Given the description of an element on the screen output the (x, y) to click on. 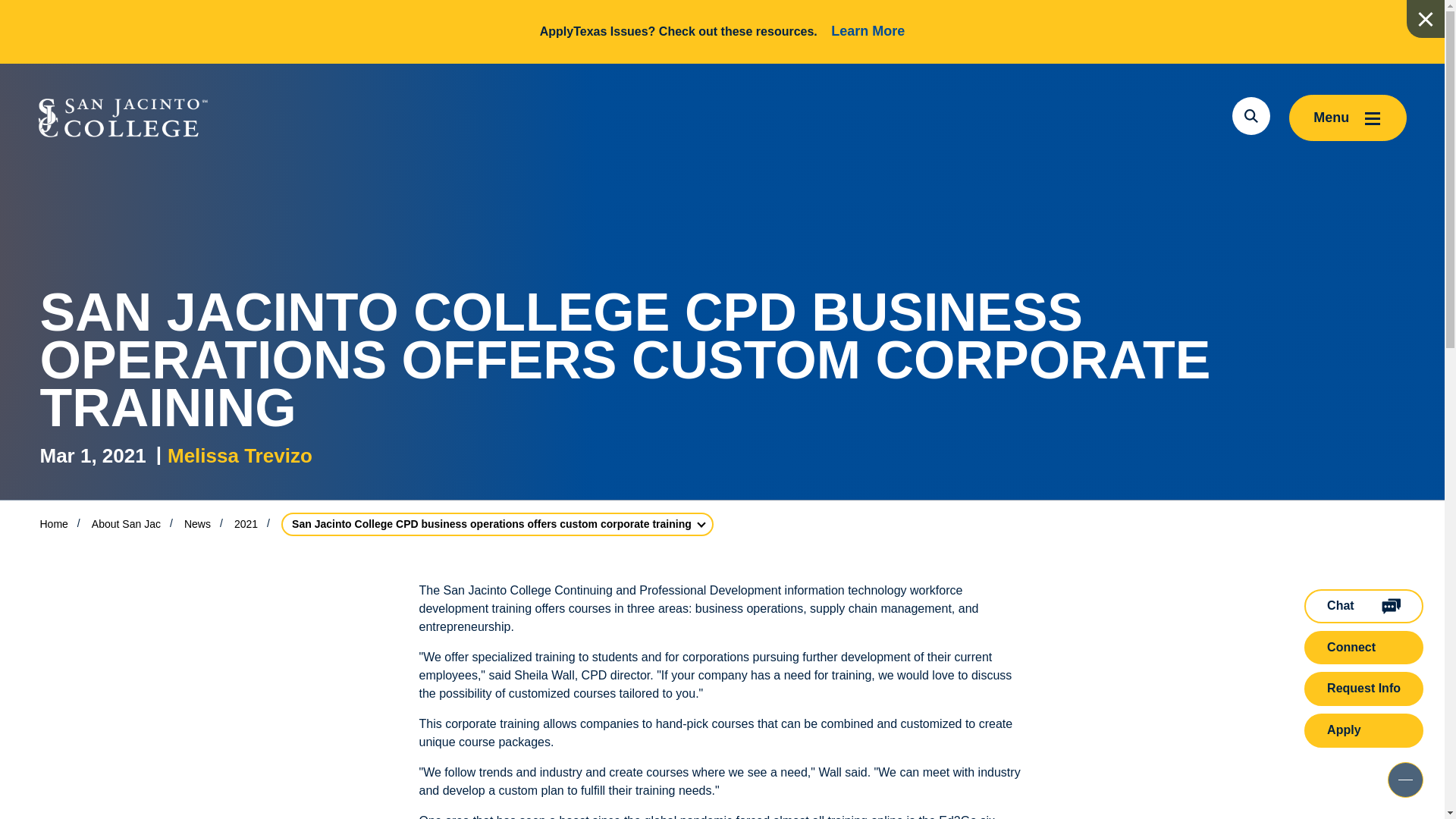
Menu (1347, 117)
main page (122, 117)
Submit (1217, 116)
open search (1250, 116)
Learn More (867, 31)
Close Alert (1425, 18)
